Given the description of an element on the screen output the (x, y) to click on. 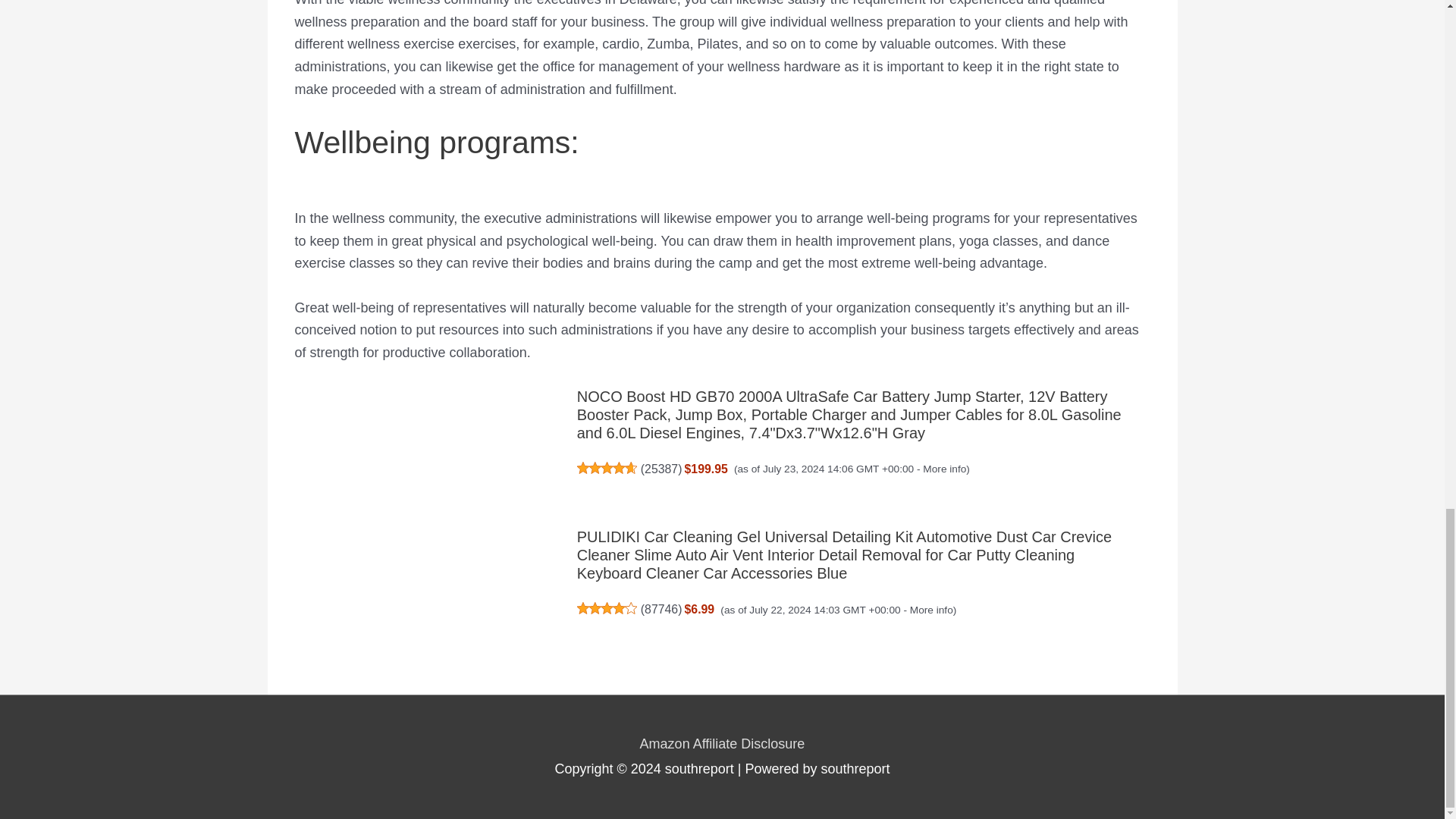
25387 (661, 468)
More info (944, 469)
